Given the description of an element on the screen output the (x, y) to click on. 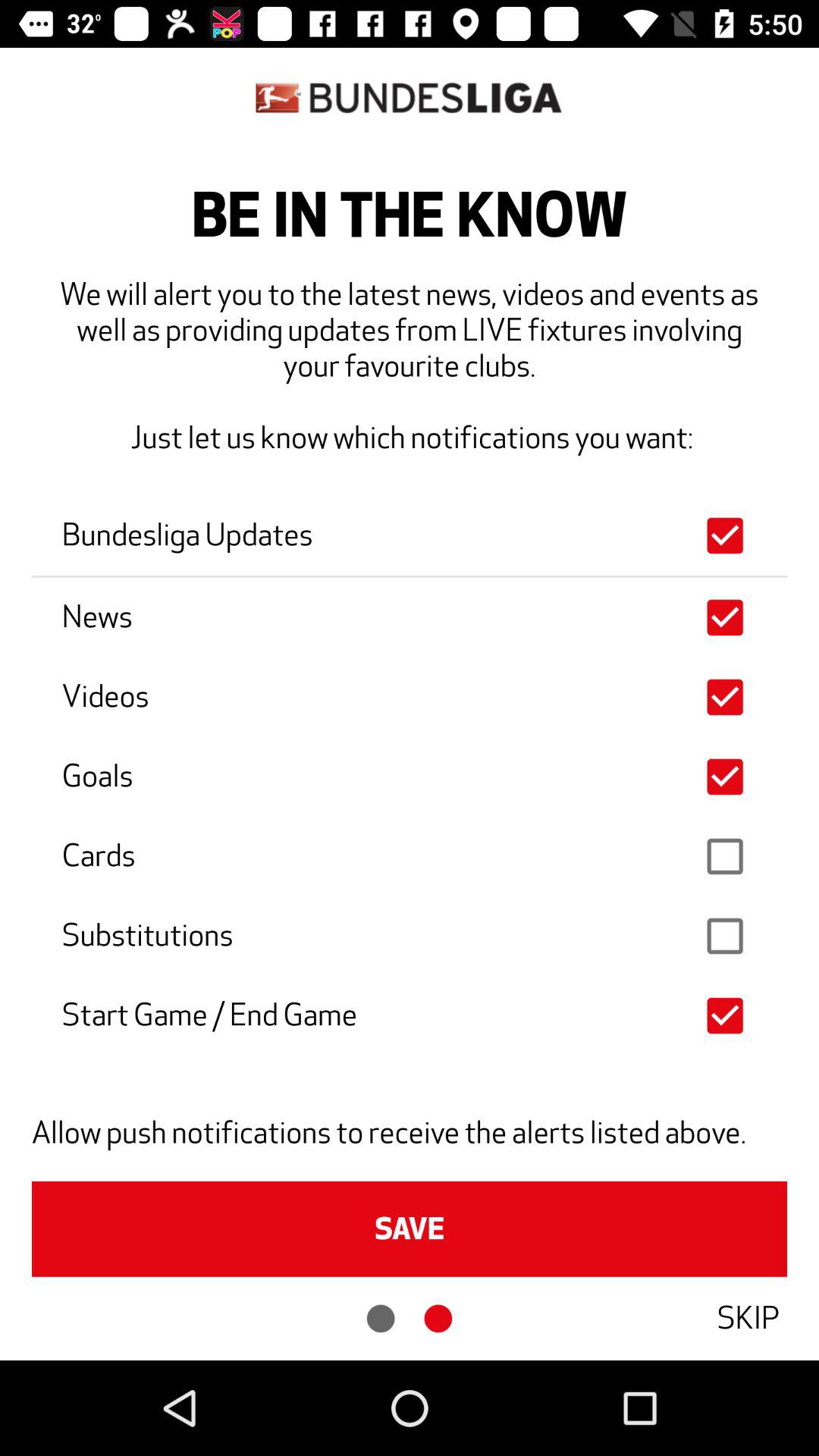
turn off the item below allow push notifications (409, 1228)
